Given the description of an element on the screen output the (x, y) to click on. 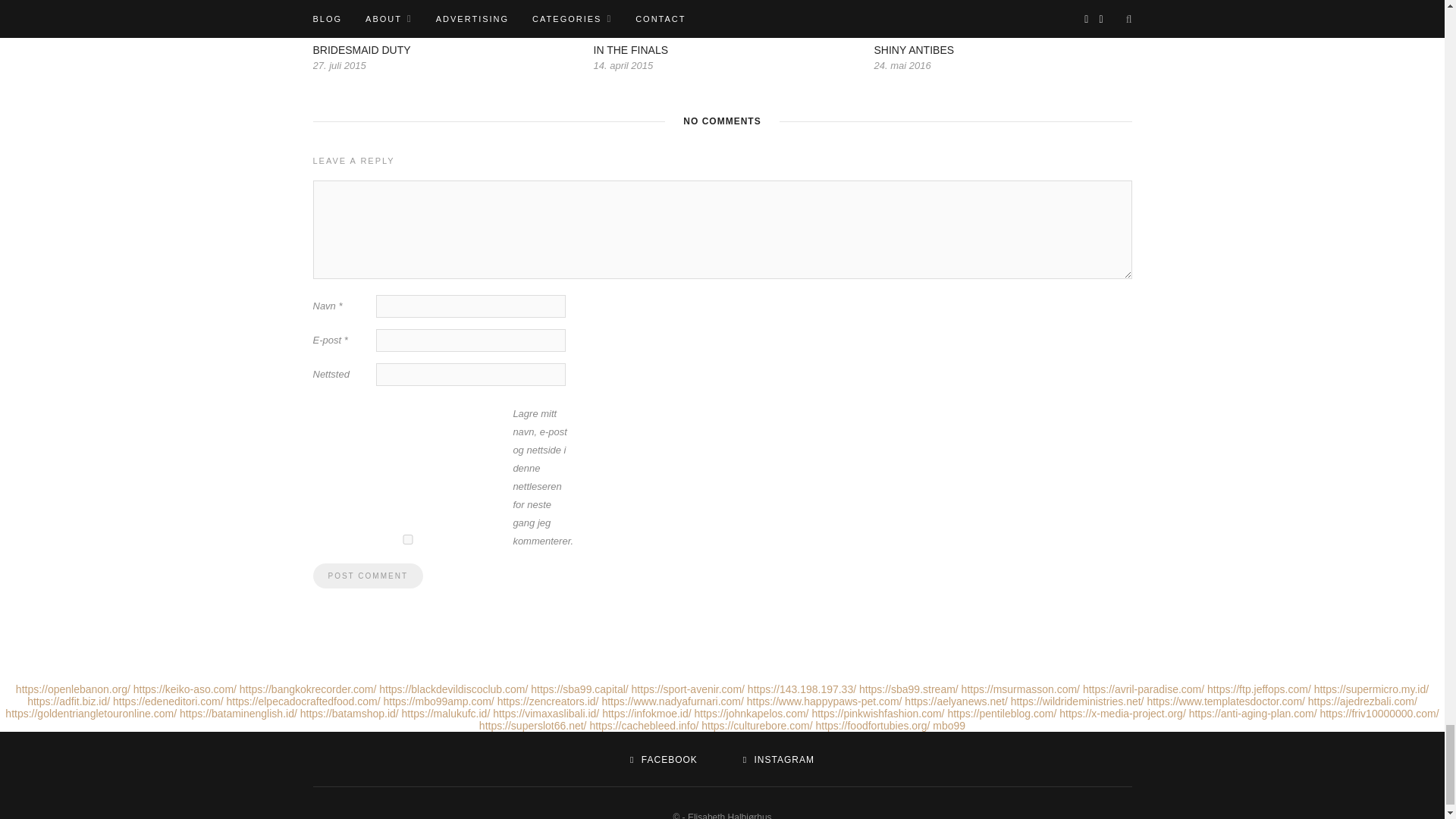
Post Comment (367, 575)
yes (407, 539)
